Given the description of an element on the screen output the (x, y) to click on. 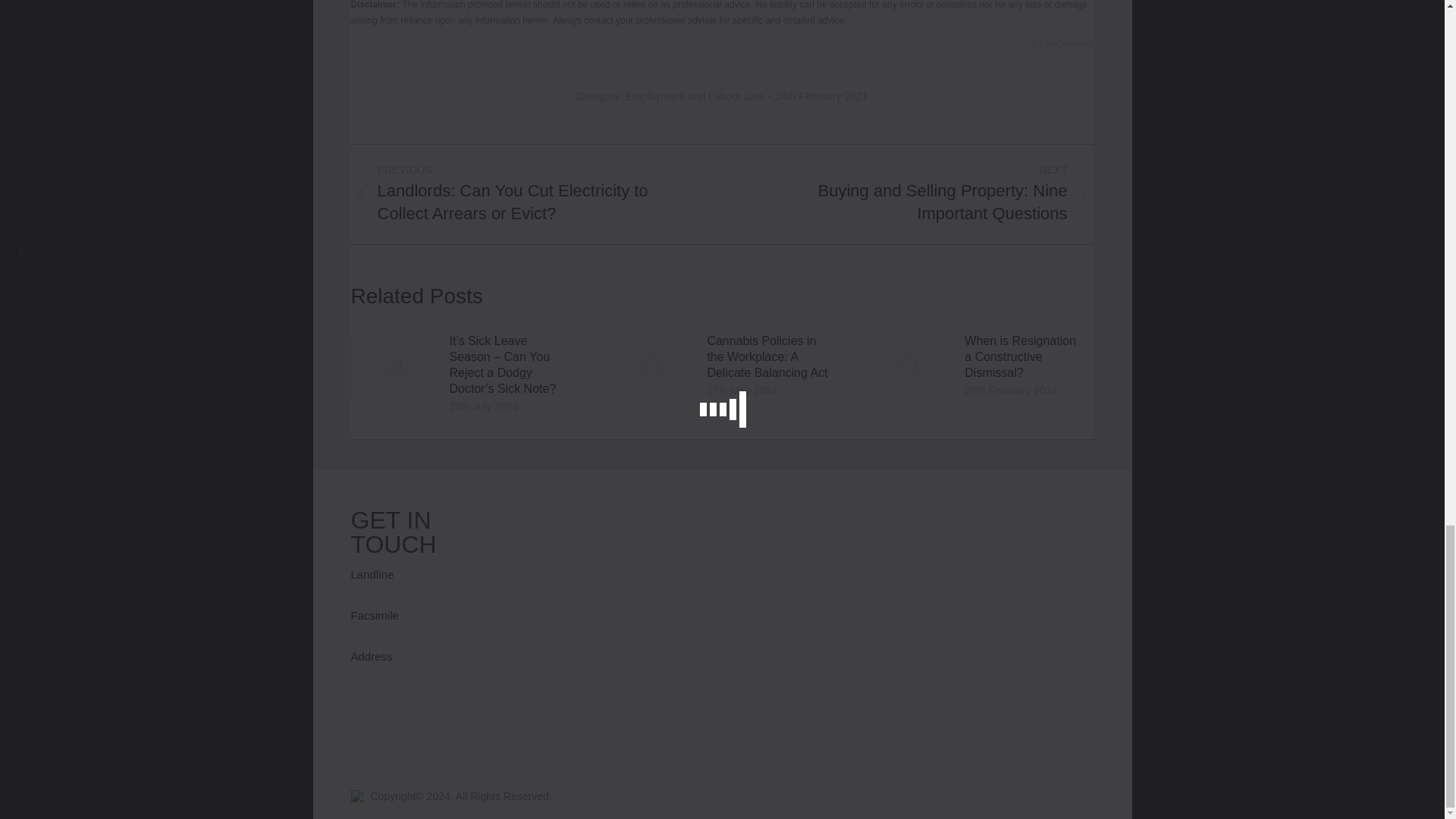
Mail page opens in new window (406, 727)
Employment and Labour Law (694, 96)
Mail page opens in new window (406, 727)
Linkedin page opens in new window (384, 727)
Linkedin page opens in new window (384, 727)
Cannabis Policies in the Workplace: A Delicate Balancing Act (767, 356)
24th February 2021 (820, 96)
Facebook page opens in new window (361, 727)
